Given the description of an element on the screen output the (x, y) to click on. 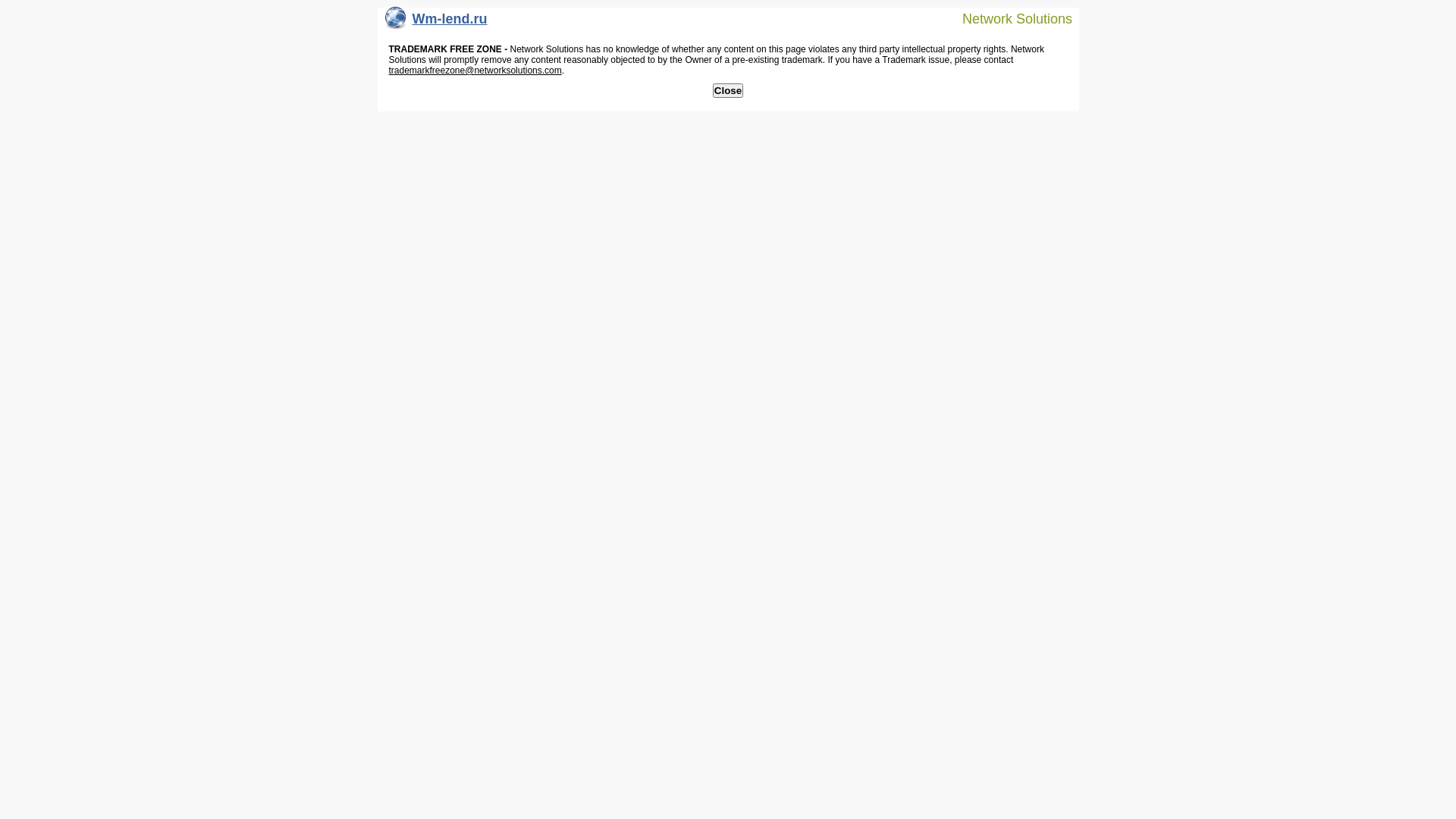
Network Solutions Element type: text (1007, 17)
Close Element type: text (727, 90)
Wm-lend.ru Element type: text (436, 21)
trademarkfreezone@networksolutions.com Element type: text (474, 70)
